Given the description of an element on the screen output the (x, y) to click on. 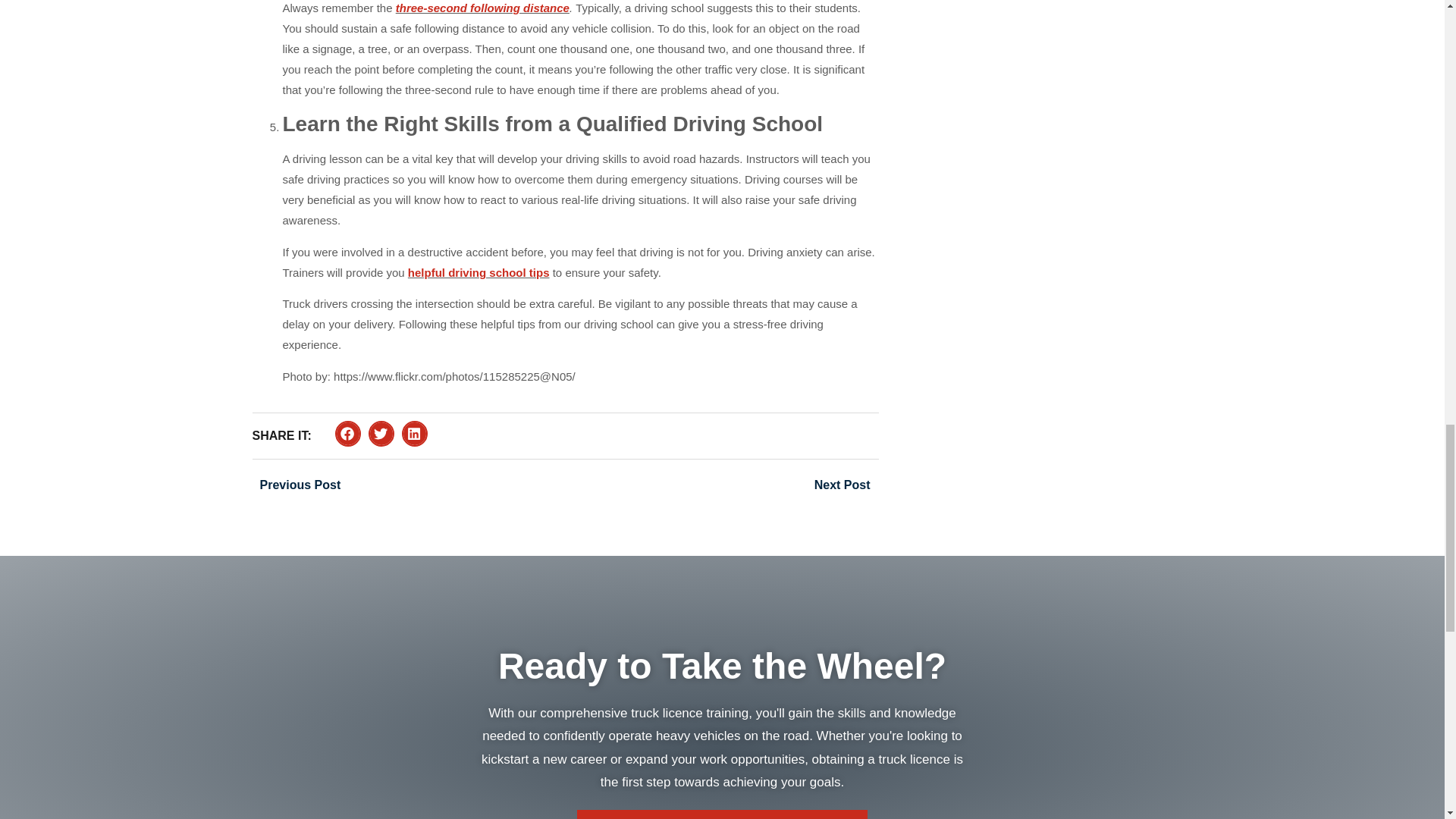
helpful driving school tips (478, 272)
Previous Post (407, 485)
Next Post (720, 485)
three-second following distance (482, 7)
